Given the description of an element on the screen output the (x, y) to click on. 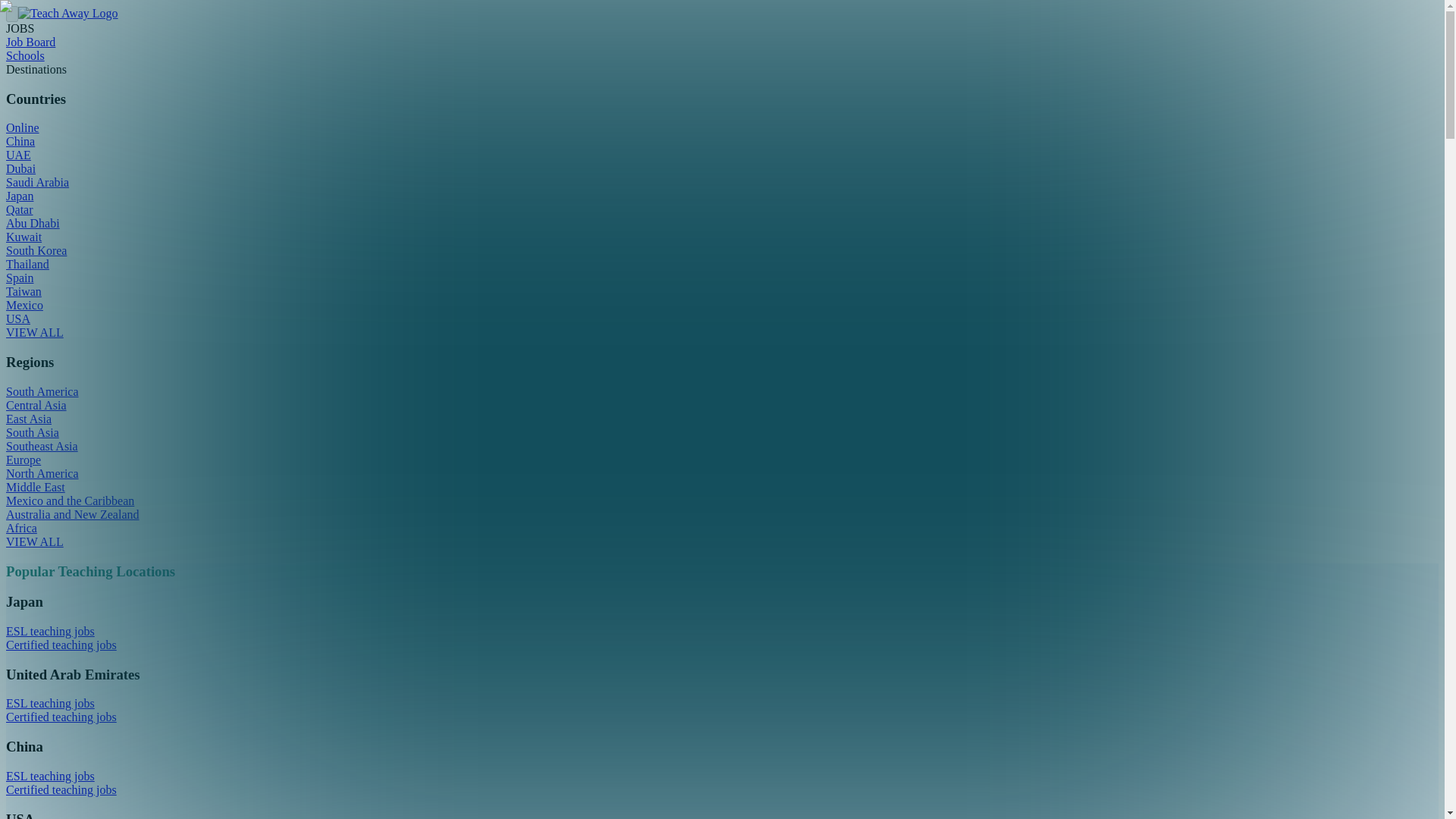
Saudi Arabia (36, 182)
Job Board (30, 42)
East Asia (27, 418)
Europe (22, 459)
Africa (21, 527)
South America (41, 391)
ESL teaching jobs (49, 631)
Central Asia (35, 404)
Certified teaching jobs (60, 716)
ESL teaching jobs (49, 775)
